Given the description of an element on the screen output the (x, y) to click on. 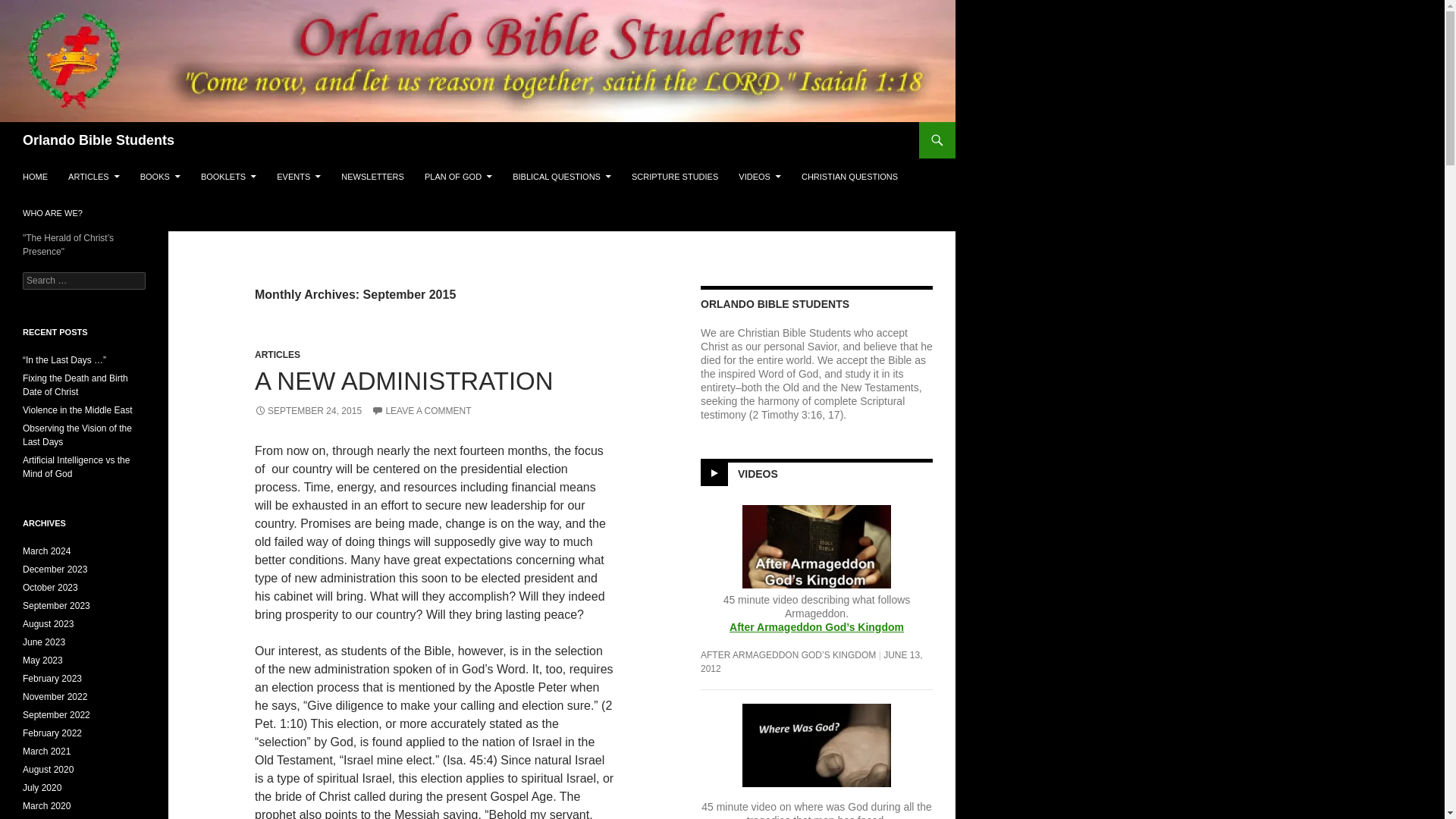
Where Was God? (816, 743)
BOOKLETS (228, 176)
BOOKS (160, 176)
After Armageddon God's Kingdom (816, 555)
EVENTS (298, 176)
ARTICLES (94, 176)
HOME (34, 176)
After Armegeddon God's Kingdom (816, 626)
